Given the description of an element on the screen output the (x, y) to click on. 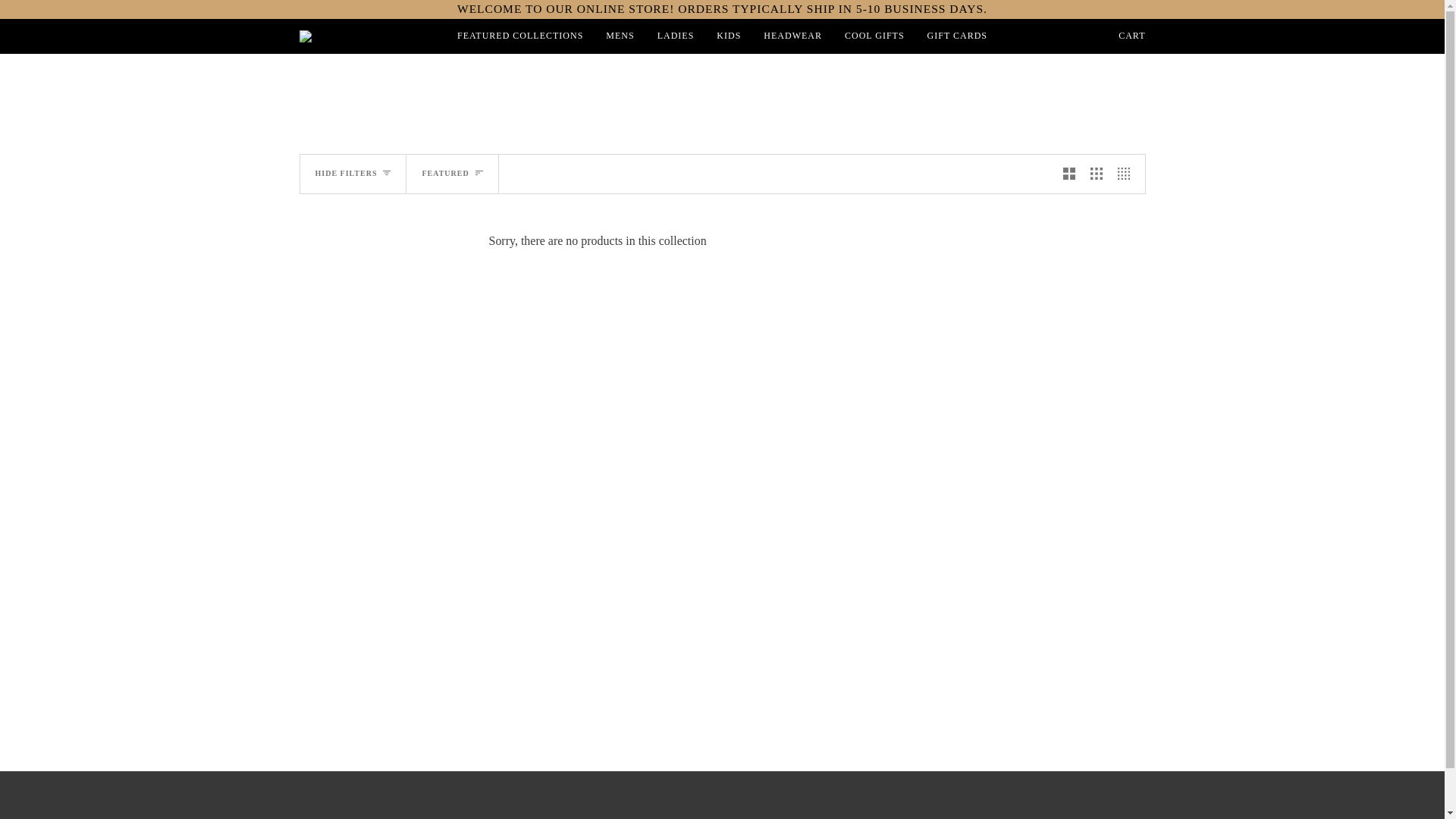
GIFT CARDS (956, 36)
CART (1131, 36)
COOL GIFTS (873, 36)
HEADWEAR (792, 36)
MENS (619, 36)
FEATURED COLLECTIONS (519, 36)
LADIES (676, 36)
KIDS (728, 36)
